Given the description of an element on the screen output the (x, y) to click on. 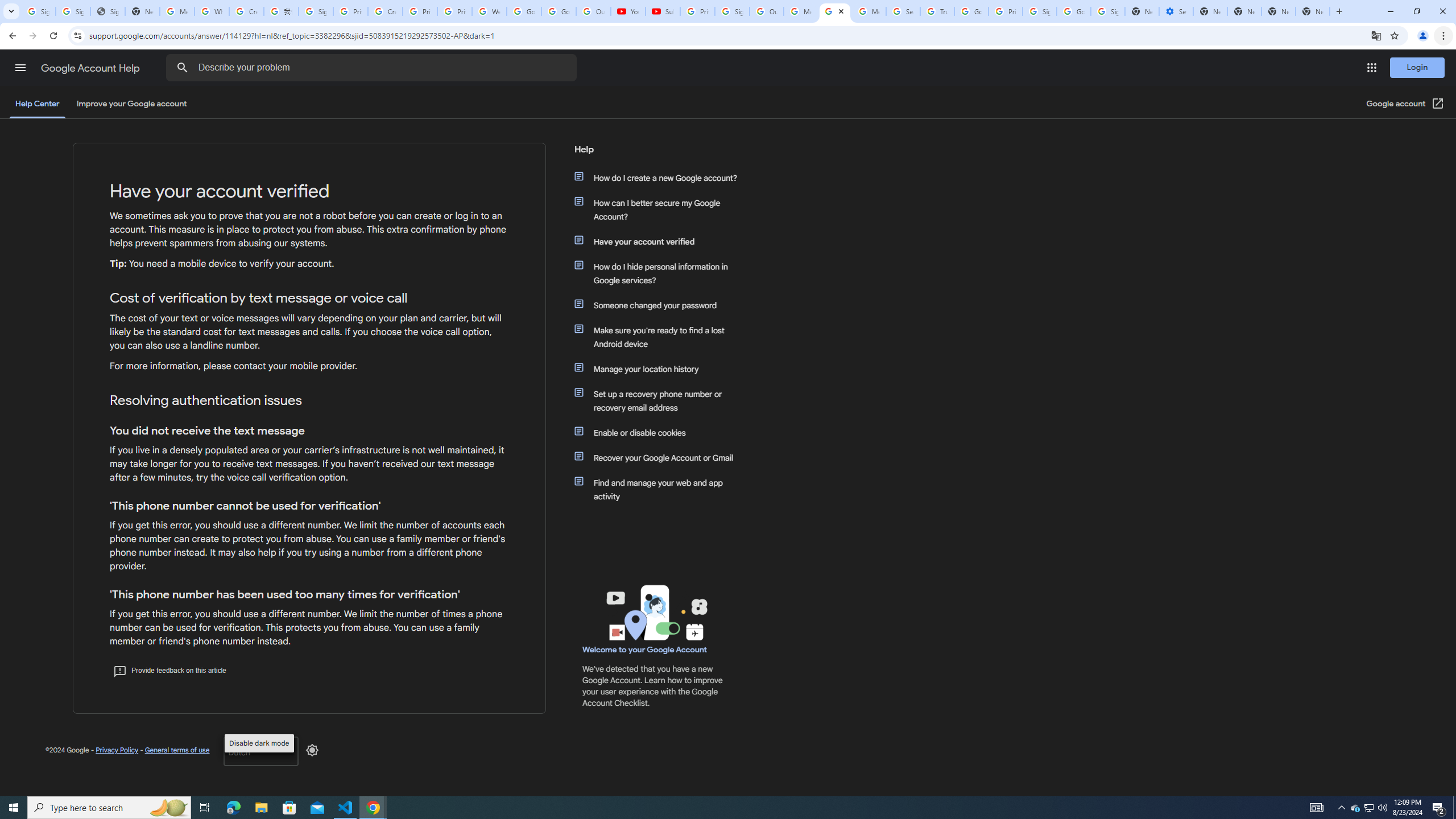
Create your Google Account (246, 11)
Settings - Performance (1176, 11)
Google Account Help (91, 68)
New Tab (1312, 11)
Get your account verified - Google Account Help (834, 11)
Search our Doodle Library Collection - Google Doodles (903, 11)
Who is my administrator? - Google Account Help (211, 11)
Set up a recovery phone number or recovery email address (661, 400)
Make sure you're ready to find a lost Android device (661, 336)
Trusted Information and Content - Google Safety Center (937, 11)
Help Center (36, 103)
